Given the description of an element on the screen output the (x, y) to click on. 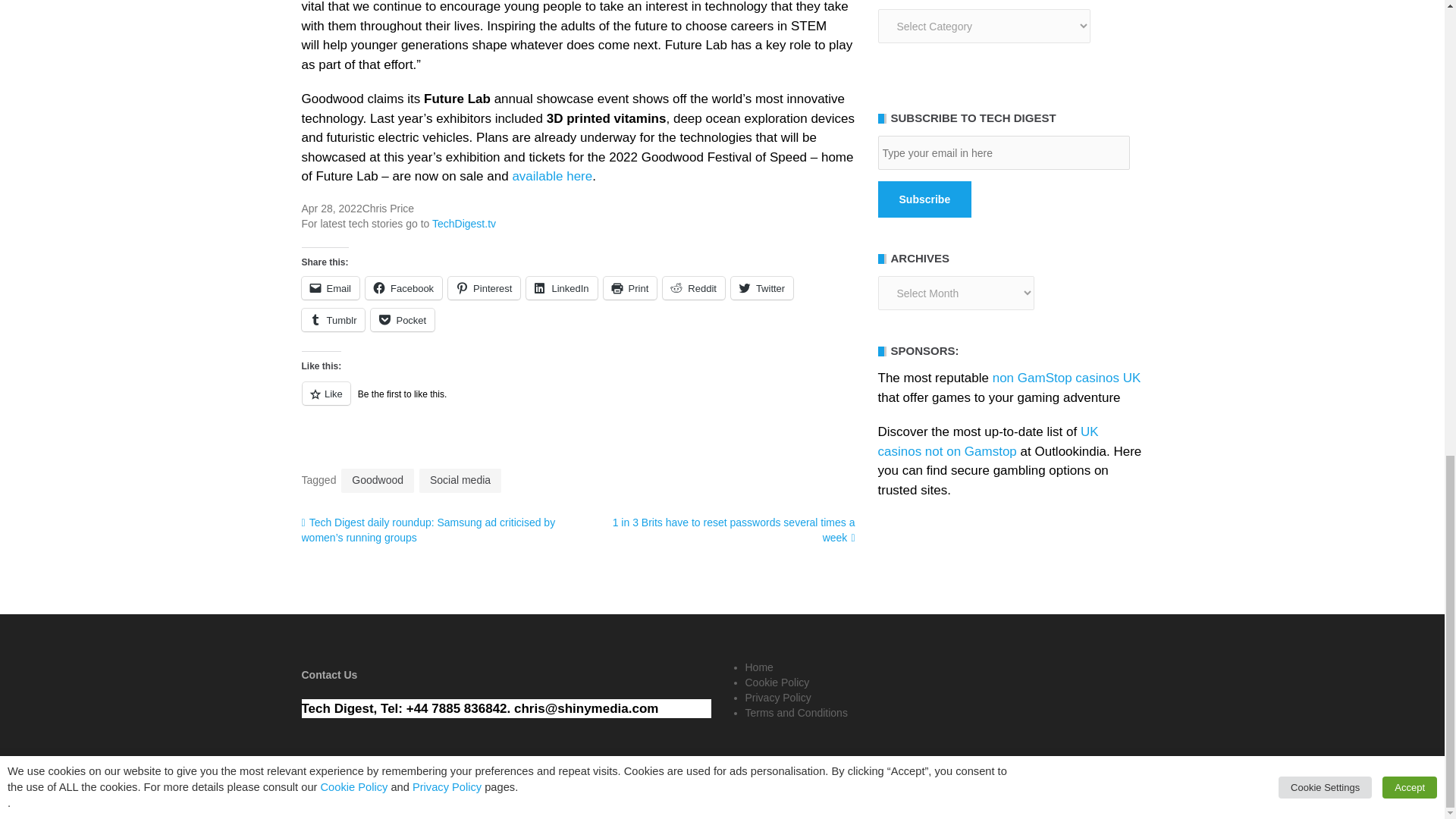
Click to share on Facebook (403, 287)
Click to print (631, 287)
Click to share on Reddit (693, 287)
Click to share on Pocket (402, 319)
Click to email a link to a friend (330, 287)
Click to share on Pinterest (483, 287)
Click to share on Twitter (761, 287)
Type your email in here (1003, 152)
Click to share on Tumblr (333, 319)
Click to share on LinkedIn (560, 287)
Type your email in here (1003, 152)
